Given the description of an element on the screen output the (x, y) to click on. 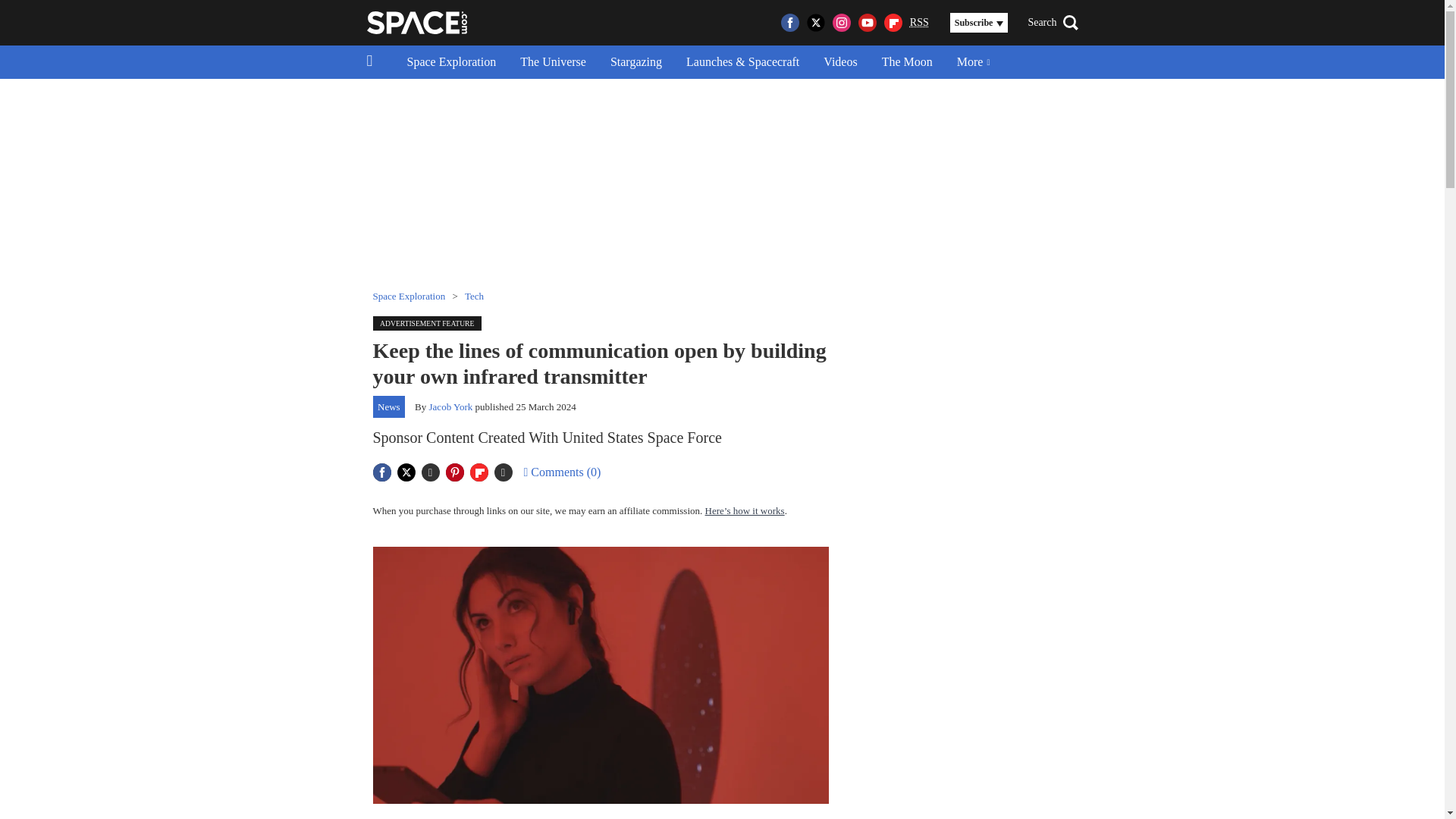
Jacob York (451, 406)
RSS (919, 22)
Space Exploration (451, 61)
Really Simple Syndication (919, 21)
Videos (839, 61)
The Moon (906, 61)
News (389, 406)
Stargazing (636, 61)
The Universe (553, 61)
Space Exploration (408, 296)
